Given the description of an element on the screen output the (x, y) to click on. 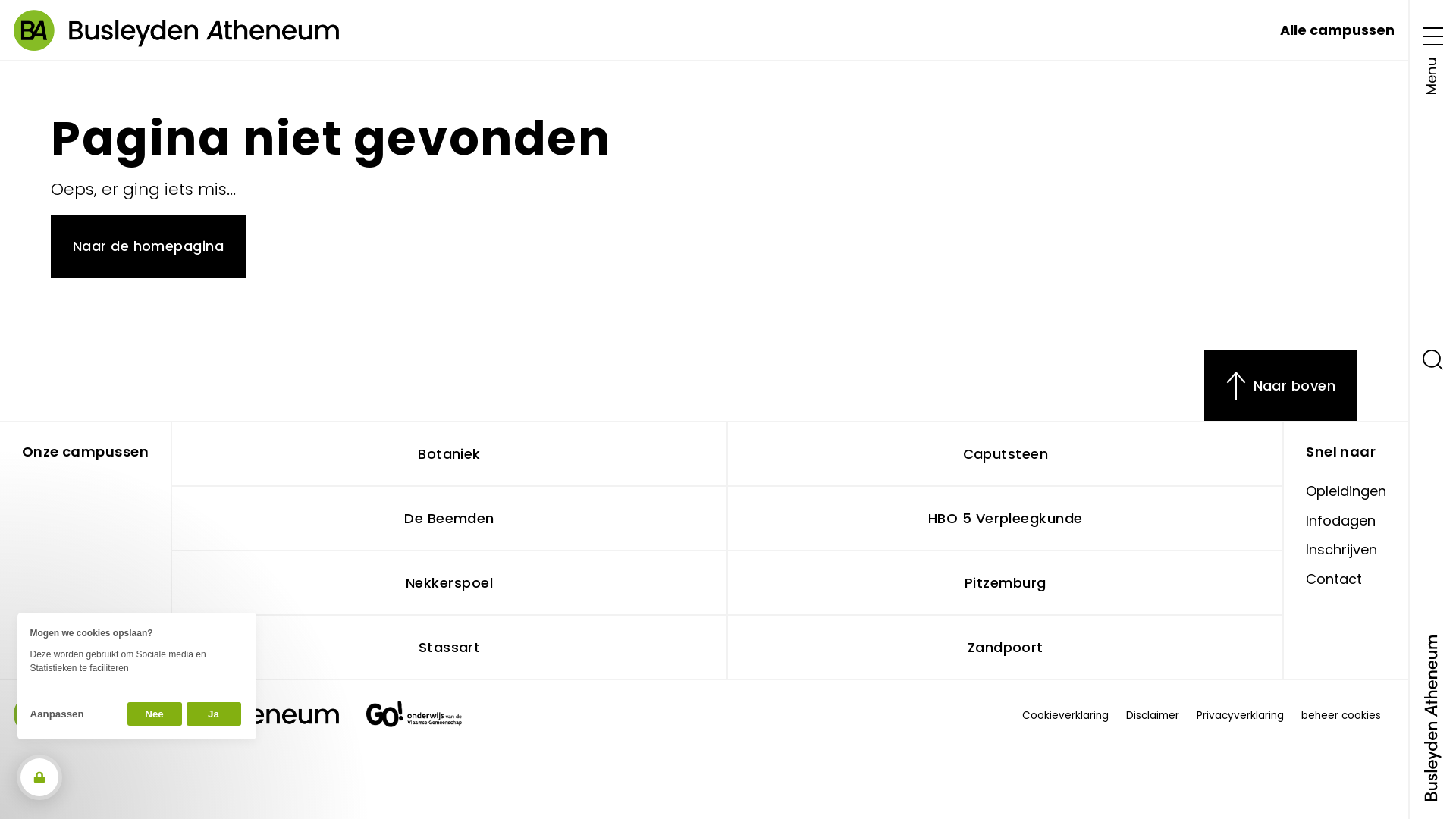
Caputsteen Element type: text (1005, 454)
beheer cookies Element type: text (1340, 716)
De Beemden Element type: text (450, 518)
Stassart Element type: text (450, 647)
Opleidingen Element type: text (1345, 490)
Privacyverklaring Element type: text (1239, 716)
Confirmic Element type: hover (136, 653)
Disclaimer Element type: text (1152, 716)
Botaniek Element type: text (450, 454)
Menu Element type: text (1432, 56)
Contact Element type: text (1333, 578)
Alle campussen Element type: text (1337, 29)
Inschrijven Element type: text (1341, 548)
Infodagen Element type: text (1340, 520)
Zandpoort Element type: text (1005, 647)
Pitzemburg Element type: text (1005, 583)
Cookieverklaring Element type: text (1065, 716)
Naar boven Element type: text (1280, 385)
HBO 5 Verpleegkunde Element type: text (1005, 518)
Nekkerspoel Element type: text (450, 583)
Naar de homepagina Element type: text (147, 245)
